Given the description of an element on the screen output the (x, y) to click on. 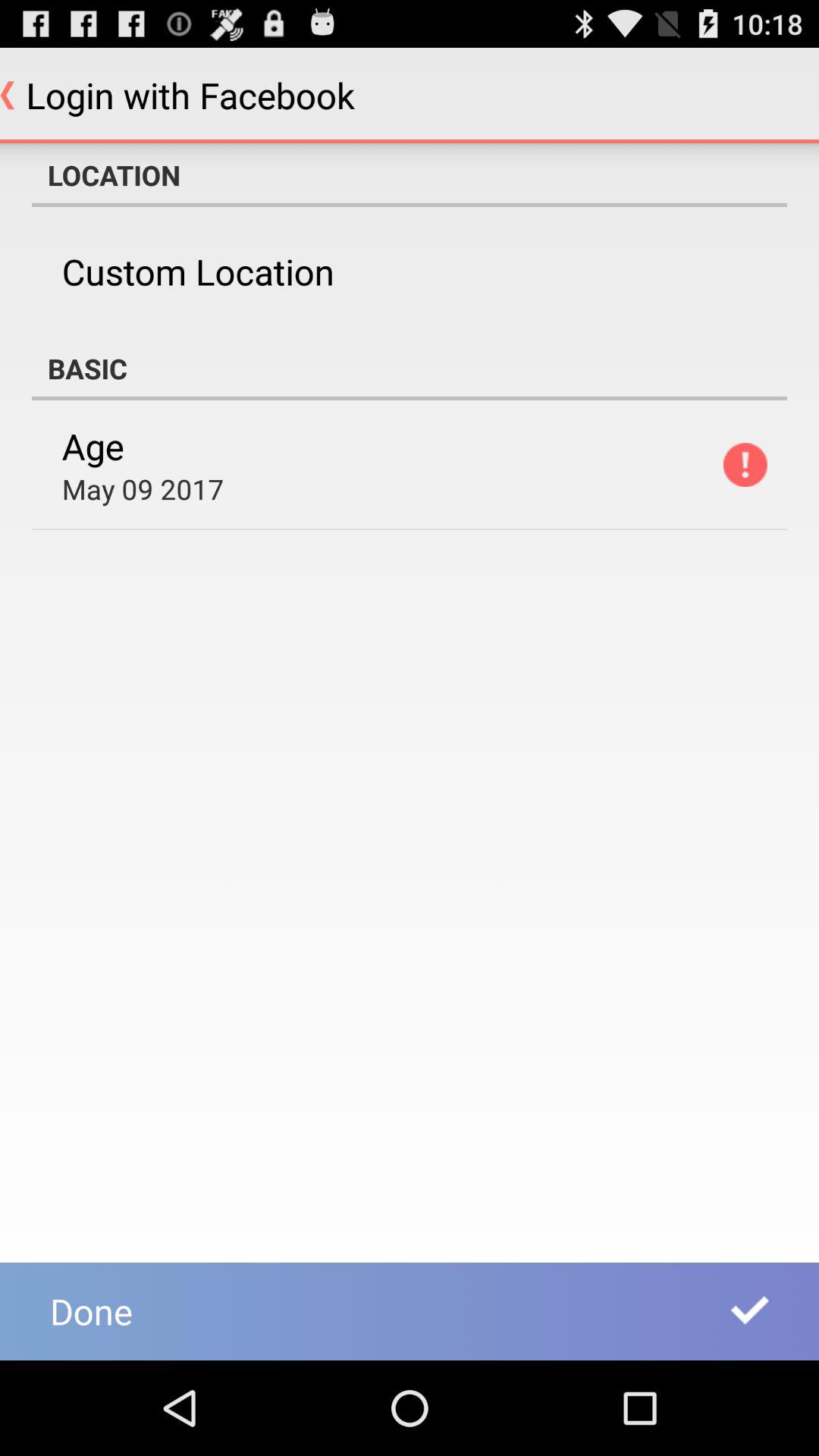
click icon above done (142, 488)
